Given the description of an element on the screen output the (x, y) to click on. 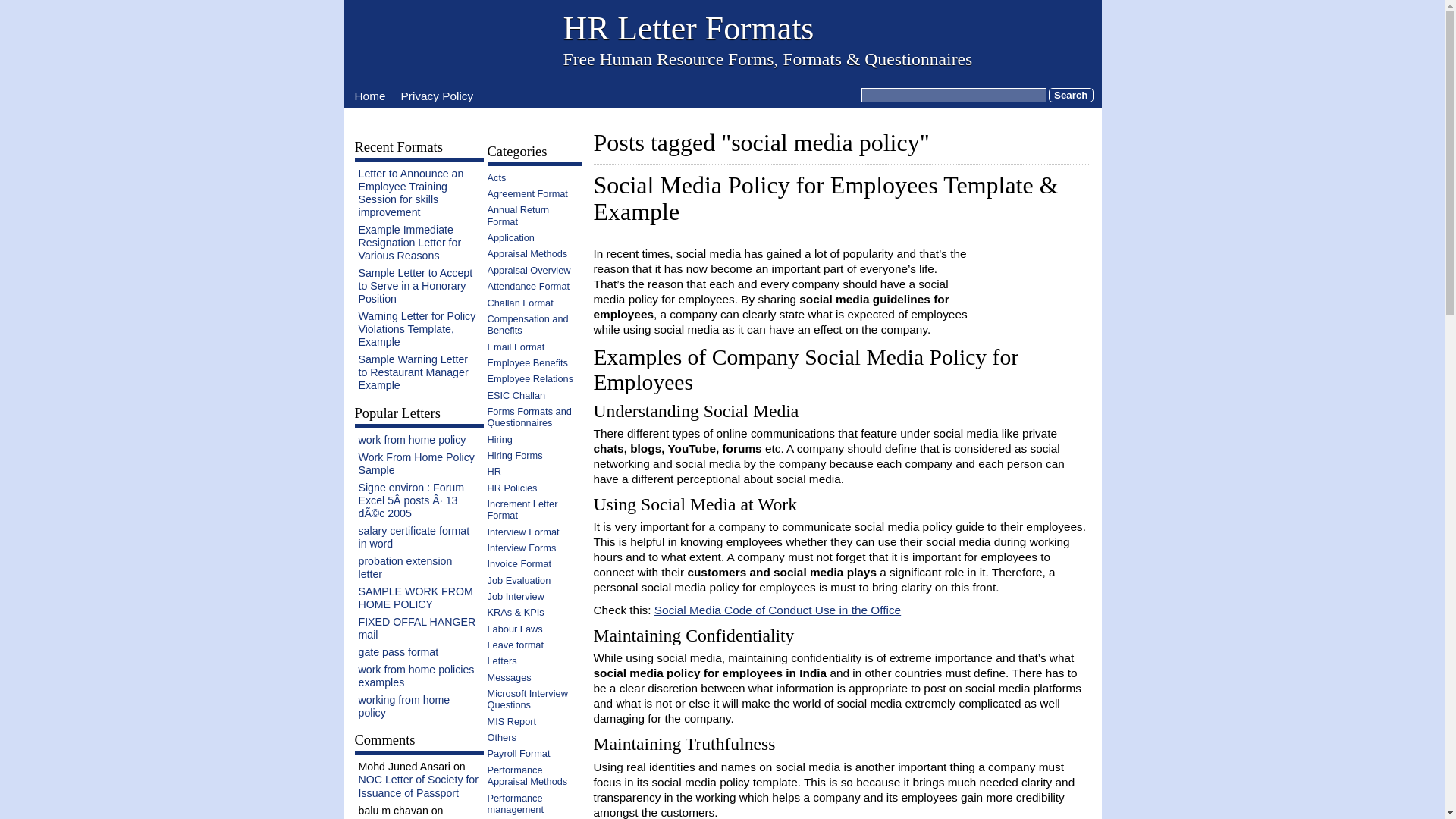
Warning Letter for Policy Violations Template, Example (417, 329)
salary certificate format in word (413, 536)
SAMPLE WORK FROM HOME POLICY (414, 597)
Privacy Policy (437, 95)
Sample Letter to Accept to Serve in a Honorary Position (414, 285)
work from home policies examples (416, 675)
FIXED OFFAL HANGER mail (417, 627)
HR Letter Formats (687, 27)
Work From Home Policy Sample (416, 463)
Work From Home Policy Sample (416, 463)
Social Media Code of Conduct Use in the Office (777, 609)
probation extension letter (404, 567)
Sample Warning Letter to Restaurant Manager Example (412, 371)
Home (370, 95)
